Given the description of an element on the screen output the (x, y) to click on. 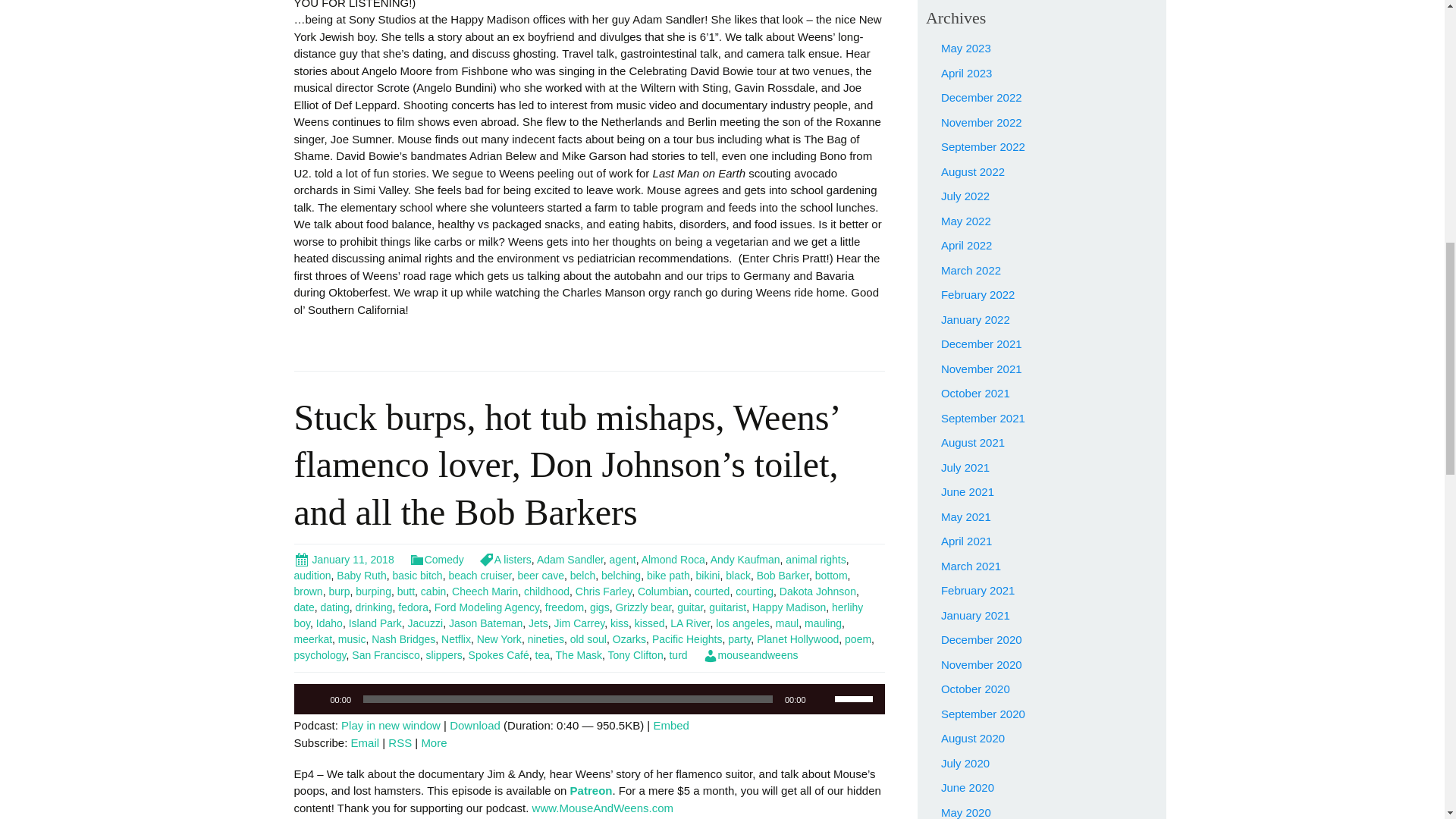
Play (313, 698)
View all posts by mouseandweens (750, 654)
Play in new window (390, 725)
Download (474, 725)
Mute (821, 698)
